Given the description of an element on the screen output the (x, y) to click on. 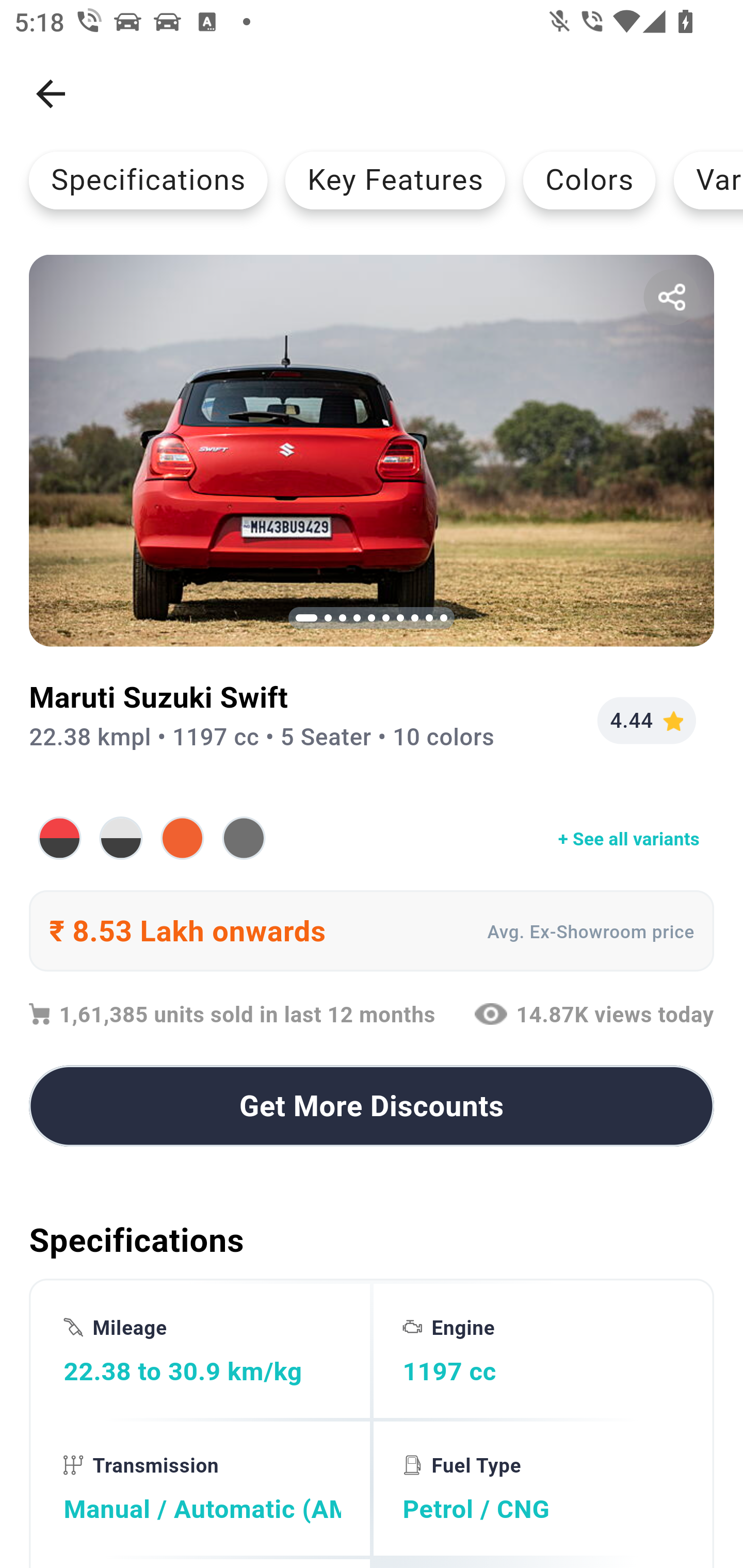
Back (50, 93)
Specifications (147, 180)
Key Features (395, 180)
Colors (589, 180)
+ See all variants (371, 837)
Mileage 22.38 to 30.9 km/kg (202, 1350)
Engine 1197 cc (540, 1350)
Transmission Manual / Automatic (AMT) (202, 1488)
Fuel Type Petrol / CNG (540, 1488)
